Given the description of an element on the screen output the (x, y) to click on. 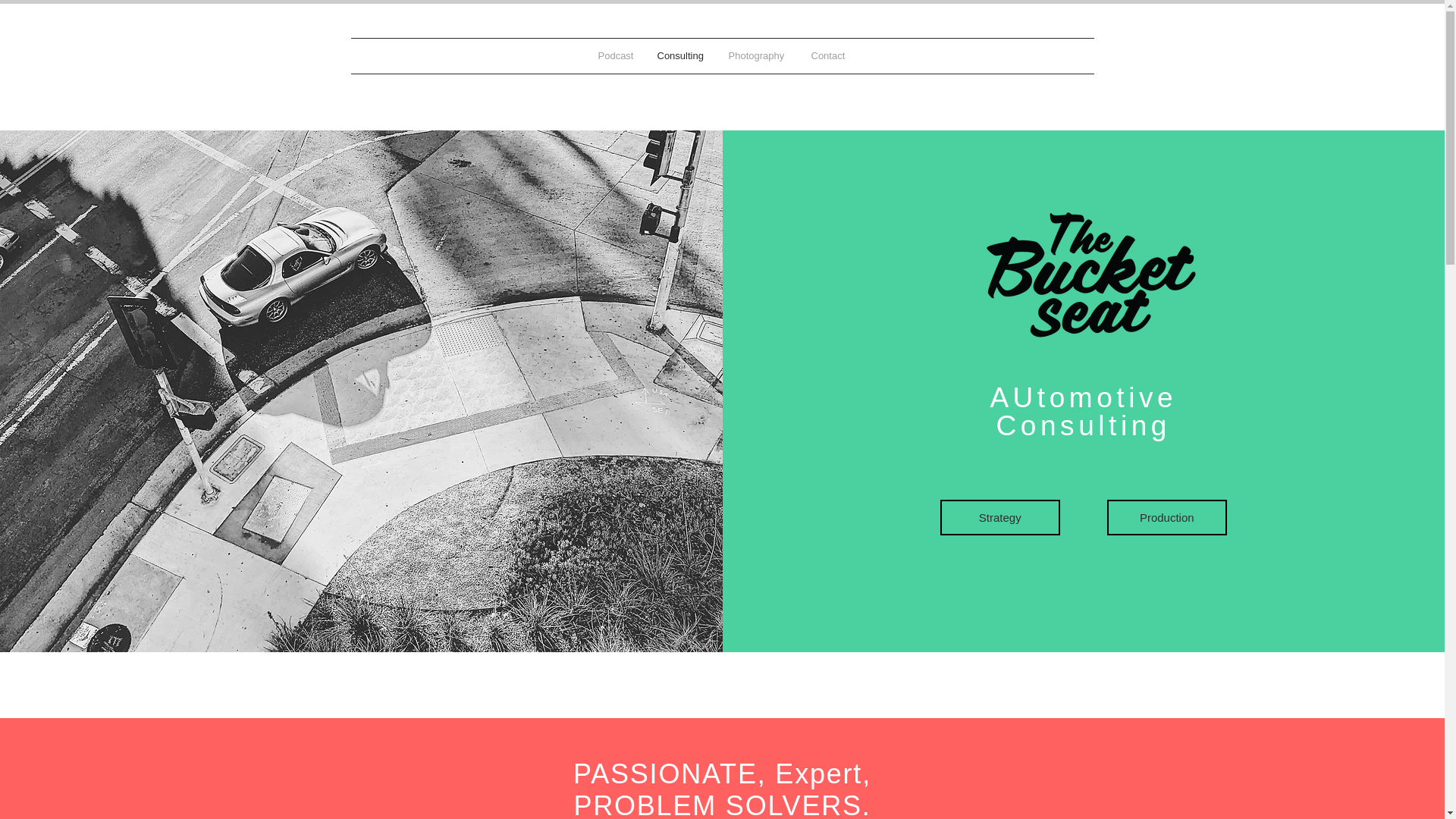
Production (1166, 517)
Consulting (681, 55)
Strategy (999, 517)
Photography (758, 55)
Contact (828, 55)
Podcast (616, 55)
